Given the description of an element on the screen output the (x, y) to click on. 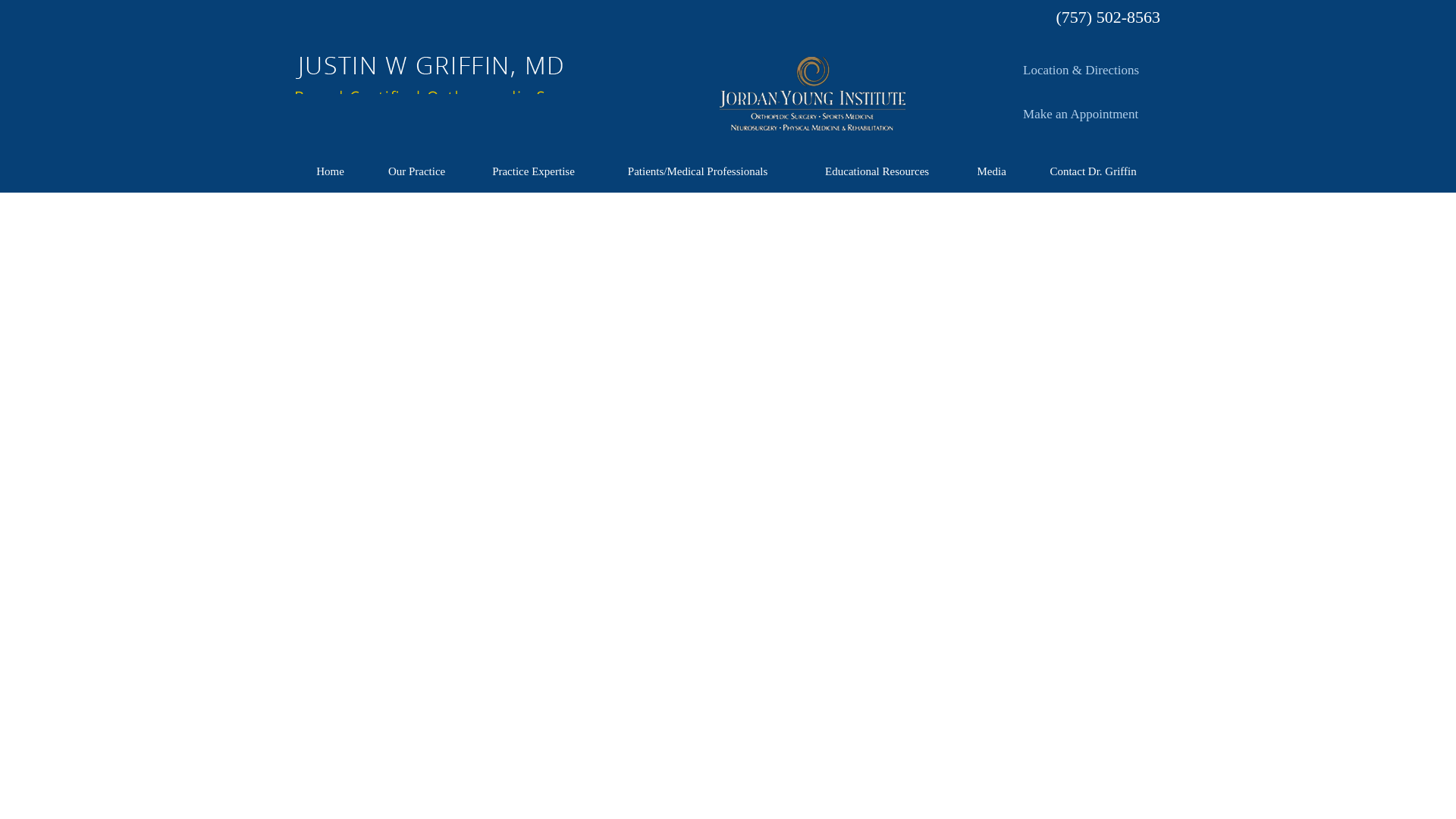
Facebook (928, 19)
Sports Medicine (448, 126)
LinkedIn (977, 19)
Make an Appointment (1080, 116)
Shoulder surgery (346, 126)
YouTube (1001, 19)
Twitter (952, 19)
